Given the description of an element on the screen output the (x, y) to click on. 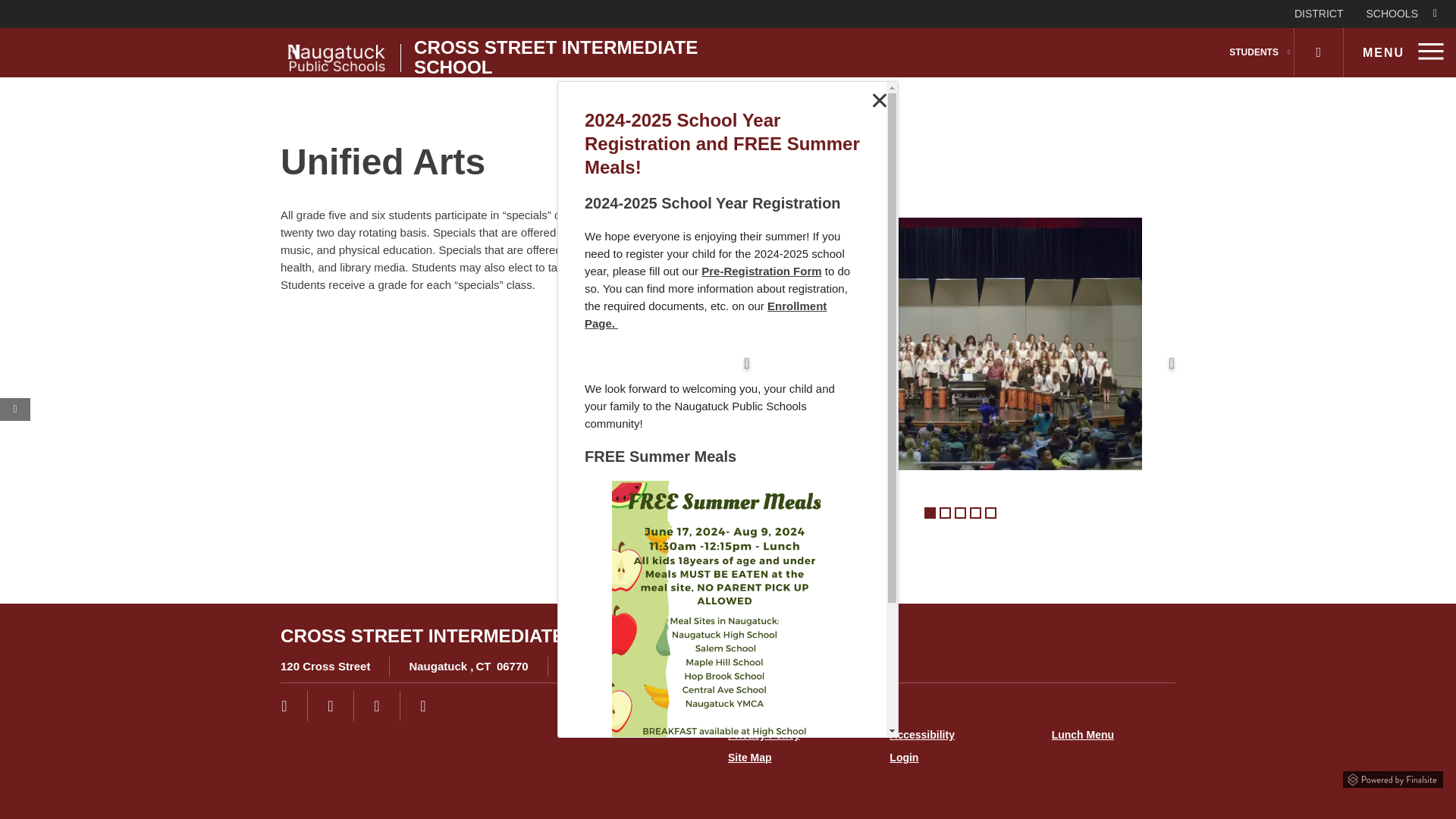
Powered by Finalsite opens in a new window (1393, 776)
